Given the description of an element on the screen output the (x, y) to click on. 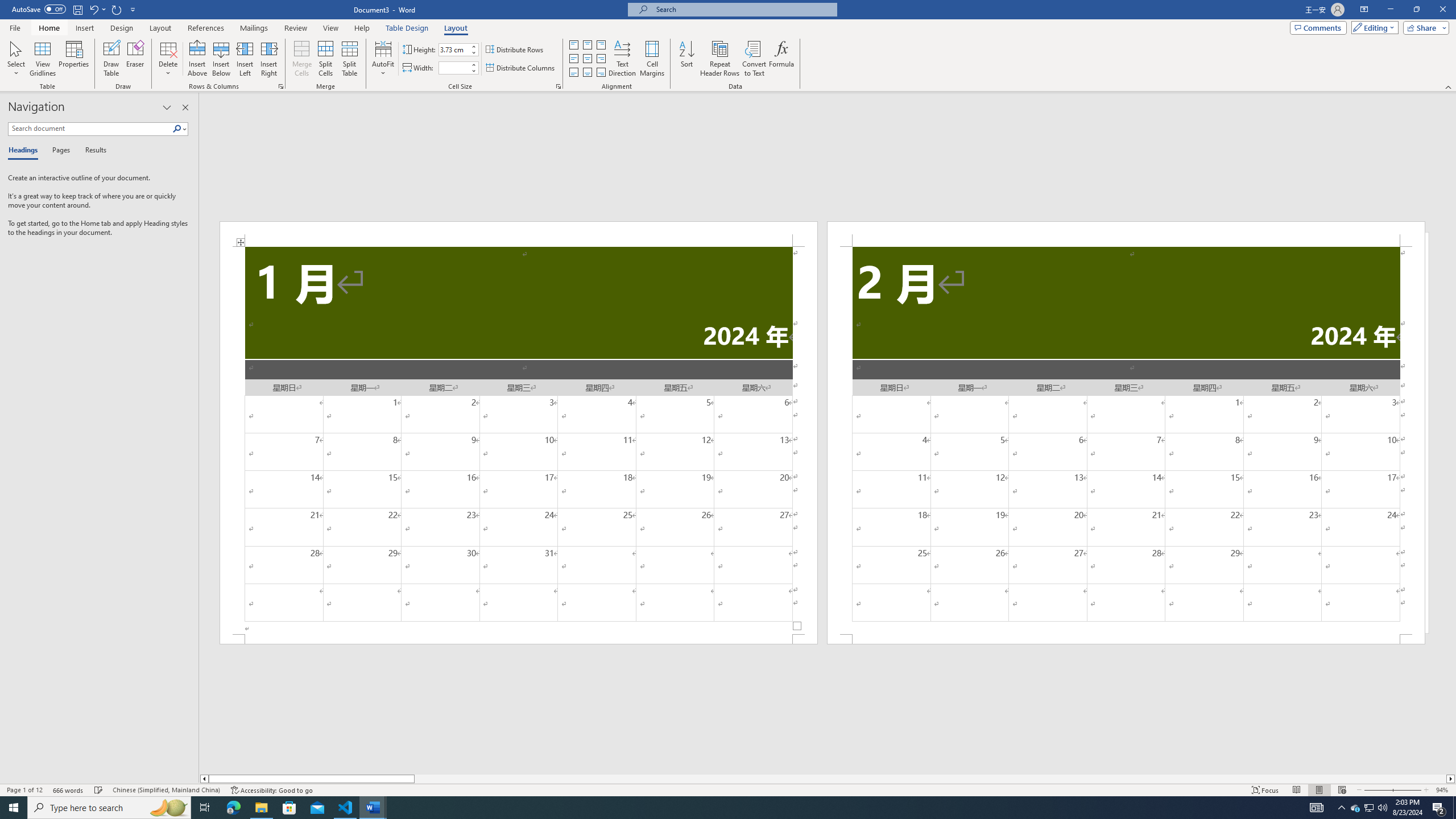
Insert Above (196, 58)
Cell Margins... (652, 58)
Align Center Justified (573, 58)
Insert Left (244, 58)
More (473, 64)
